Given the description of an element on the screen output the (x, y) to click on. 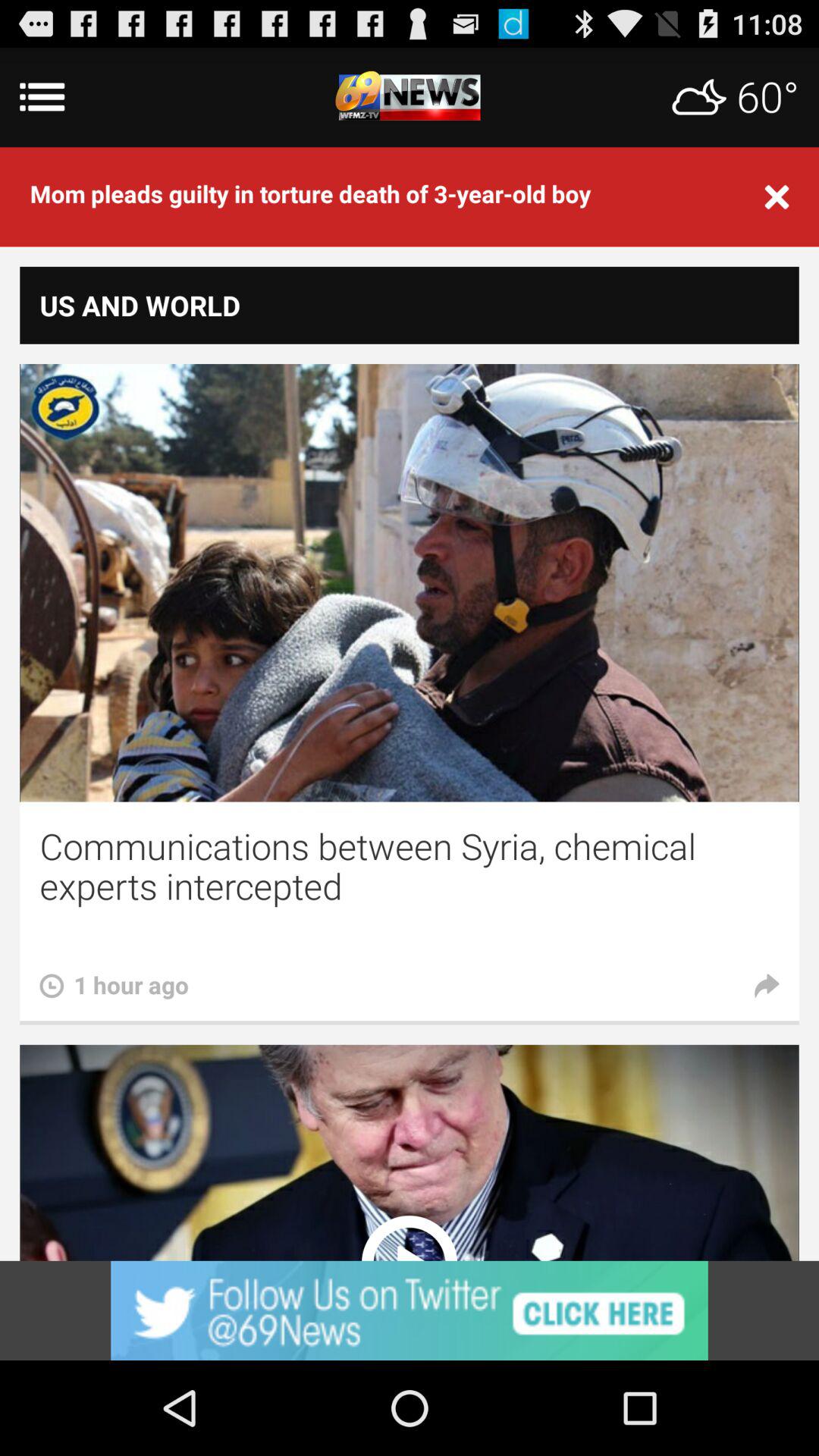
go to website home (409, 97)
